Given the description of an element on the screen output the (x, y) to click on. 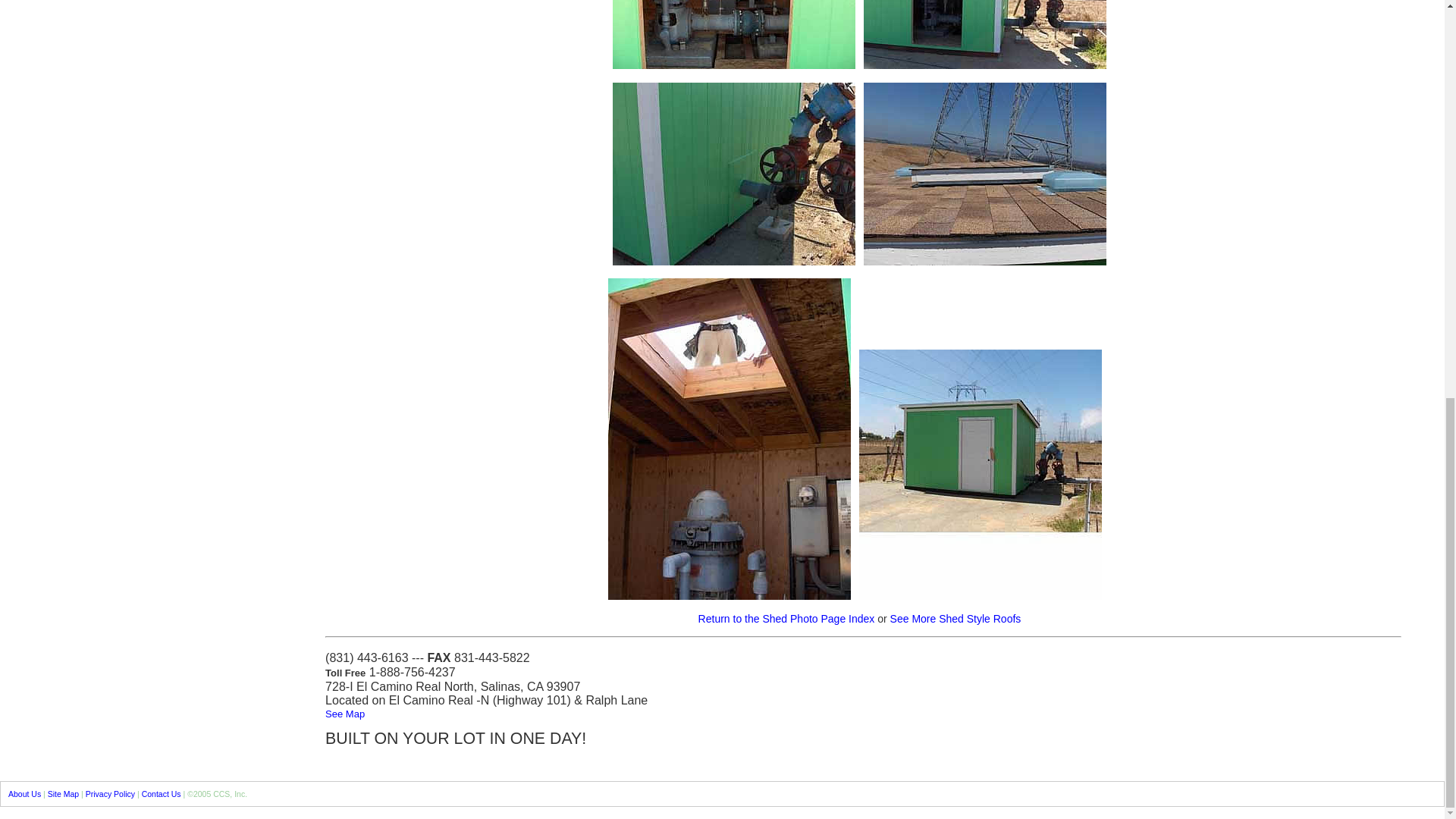
Site Map (63, 793)
Contact Us (160, 793)
Privacy Policy (110, 793)
See More Shed Style Roofs (955, 618)
See Map (344, 713)
Return to the Shed Photo Page Index (786, 618)
About Us (24, 793)
